Given the description of an element on the screen output the (x, y) to click on. 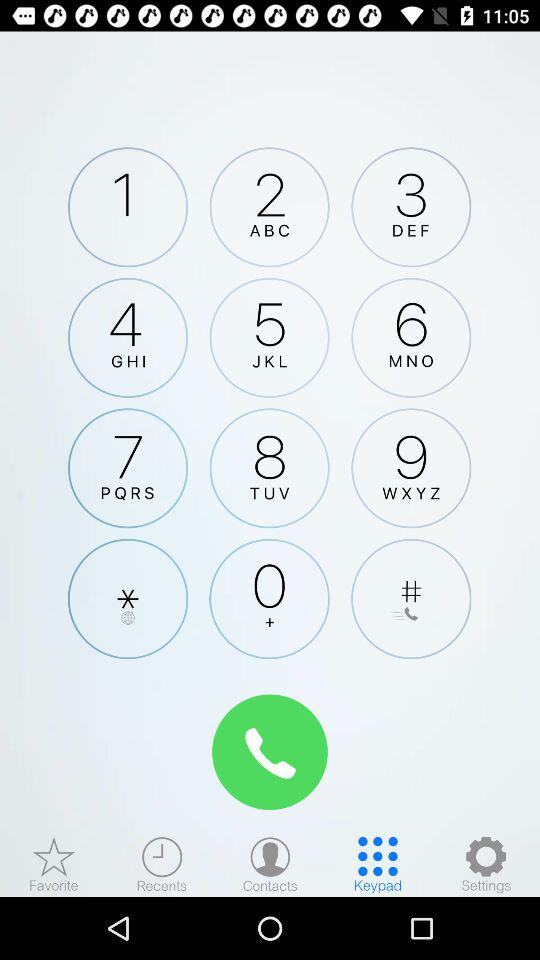
listed numbers (269, 864)
